Given the description of an element on the screen output the (x, y) to click on. 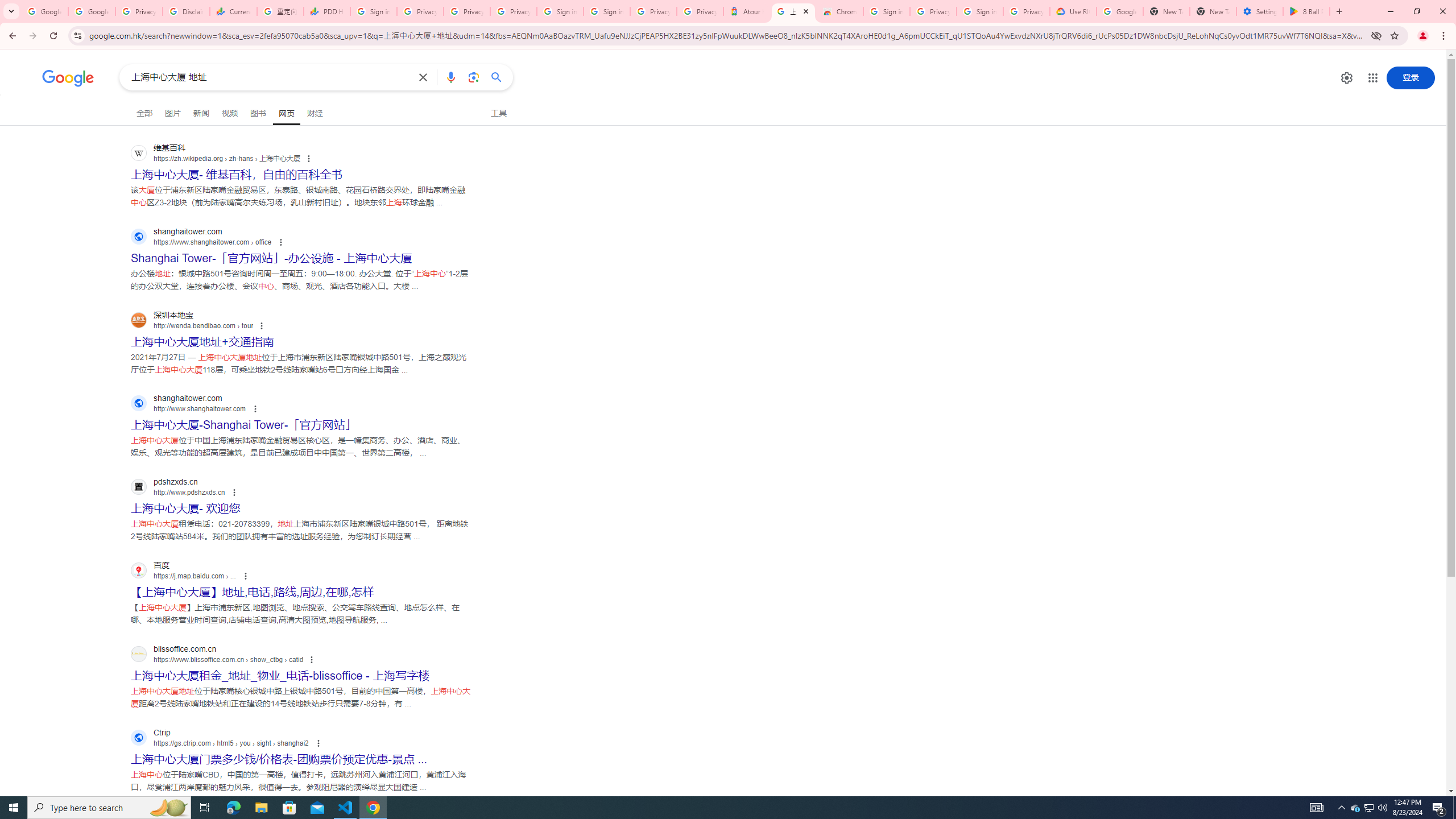
Currencies - Google Finance (233, 11)
Sign in - Google Accounts (606, 11)
Sign in - Google Accounts (373, 11)
Sign in - Google Accounts (886, 11)
New Tab (1213, 11)
